Given the description of an element on the screen output the (x, y) to click on. 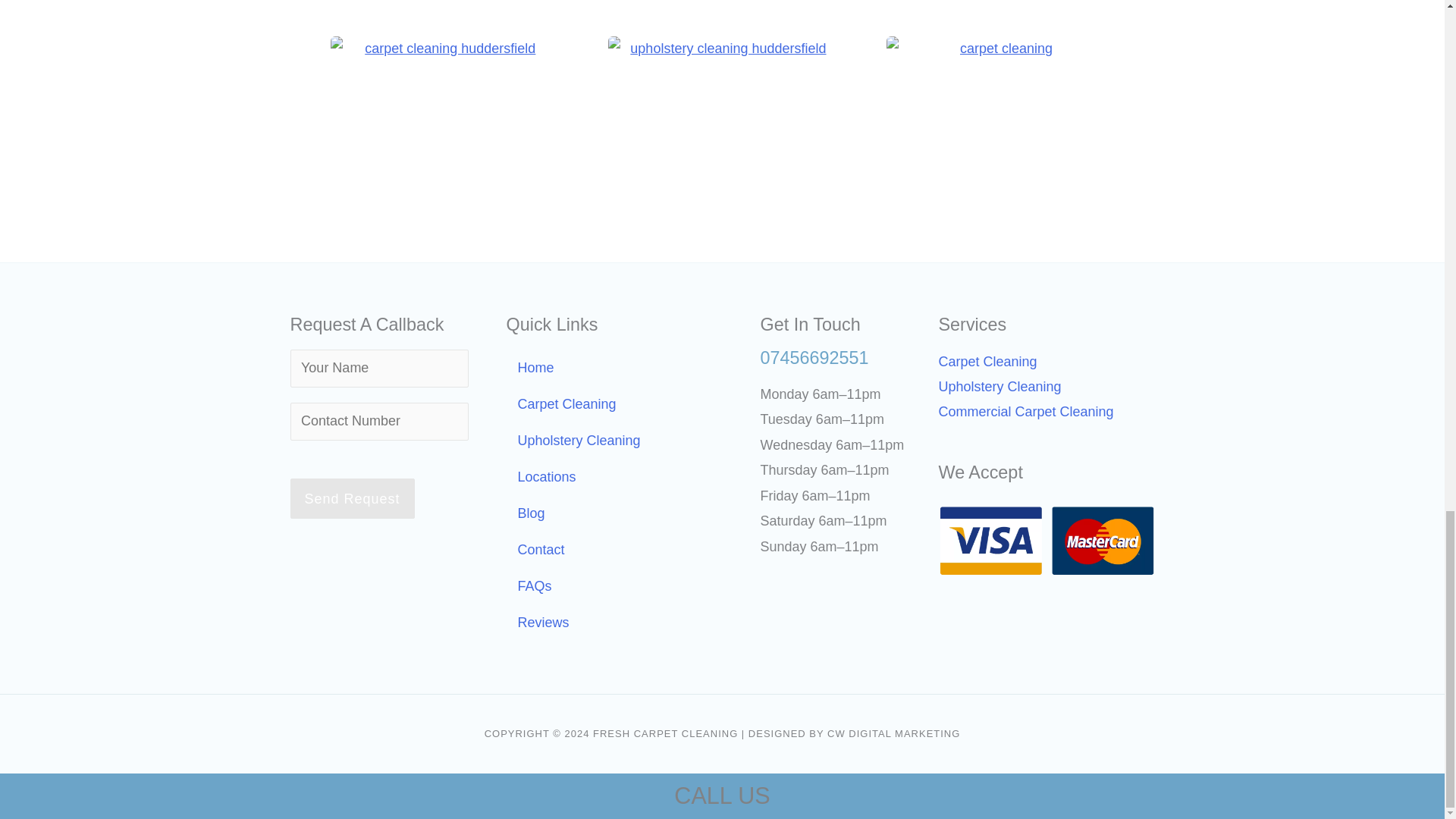
Upholstery Cleaning (614, 440)
Home (614, 367)
Locations (614, 476)
Send Request (351, 498)
Carpet Cleaning (614, 403)
